Given the description of an element on the screen output the (x, y) to click on. 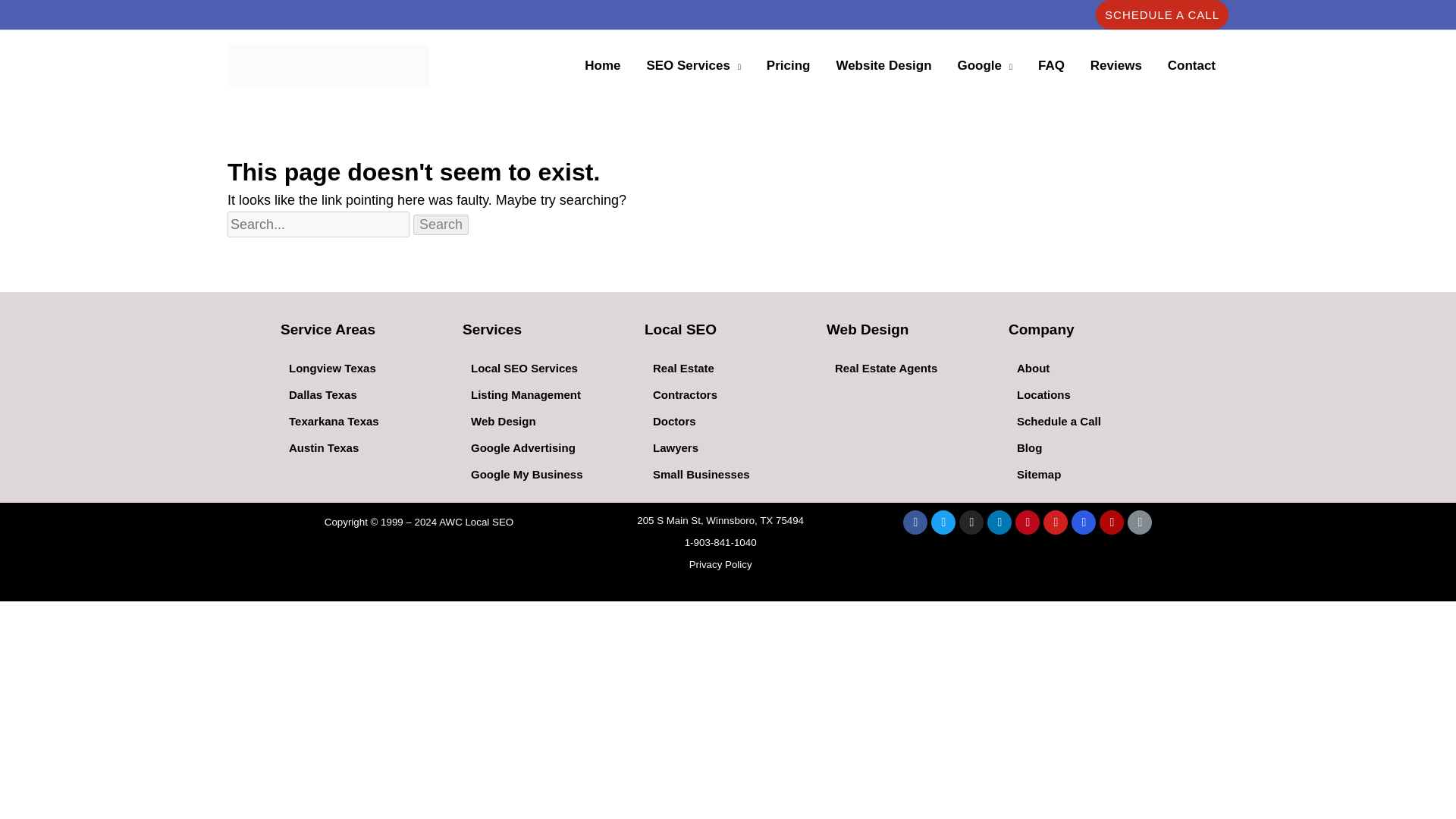
Website Design (882, 65)
Reviews (1115, 65)
Website Development (882, 65)
Google Services (984, 65)
SEO Services (692, 65)
Search (440, 224)
FAQ (1051, 65)
Contact  AWC Web Design (1191, 65)
Texas Local SEO Search (602, 65)
Search (440, 224)
Local SEO Frequently Asked Questions (1051, 65)
Pricing (789, 65)
Local SEO Service Price List (789, 65)
Google (984, 65)
AWC Local Reviews (1115, 65)
